Given the description of an element on the screen output the (x, y) to click on. 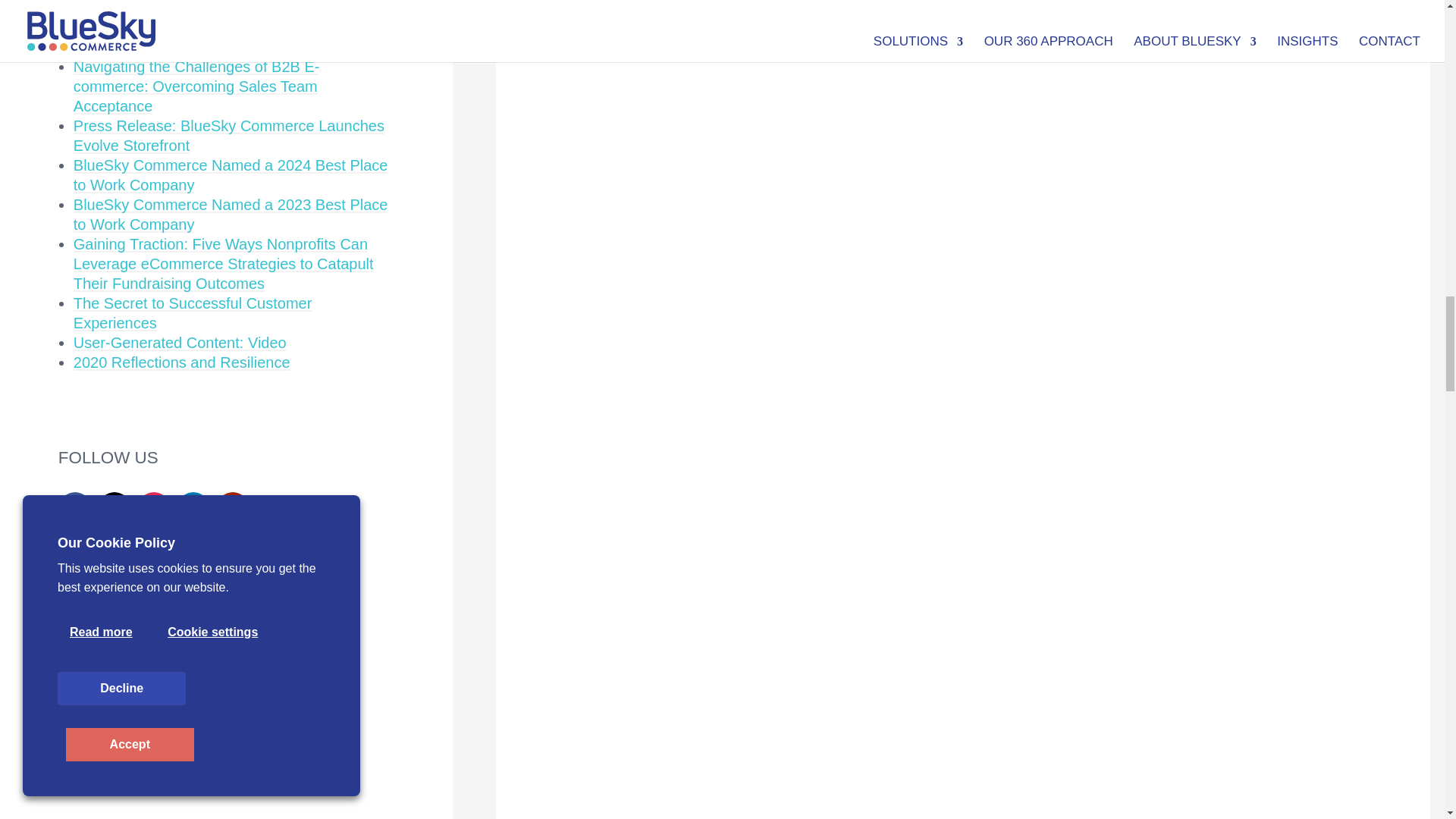
Follow on Facebook (74, 507)
Follow on Instagram (153, 507)
Follow on X (114, 507)
Follow on LinkedIn (192, 507)
Follow on Youtube (231, 507)
